Given the description of an element on the screen output the (x, y) to click on. 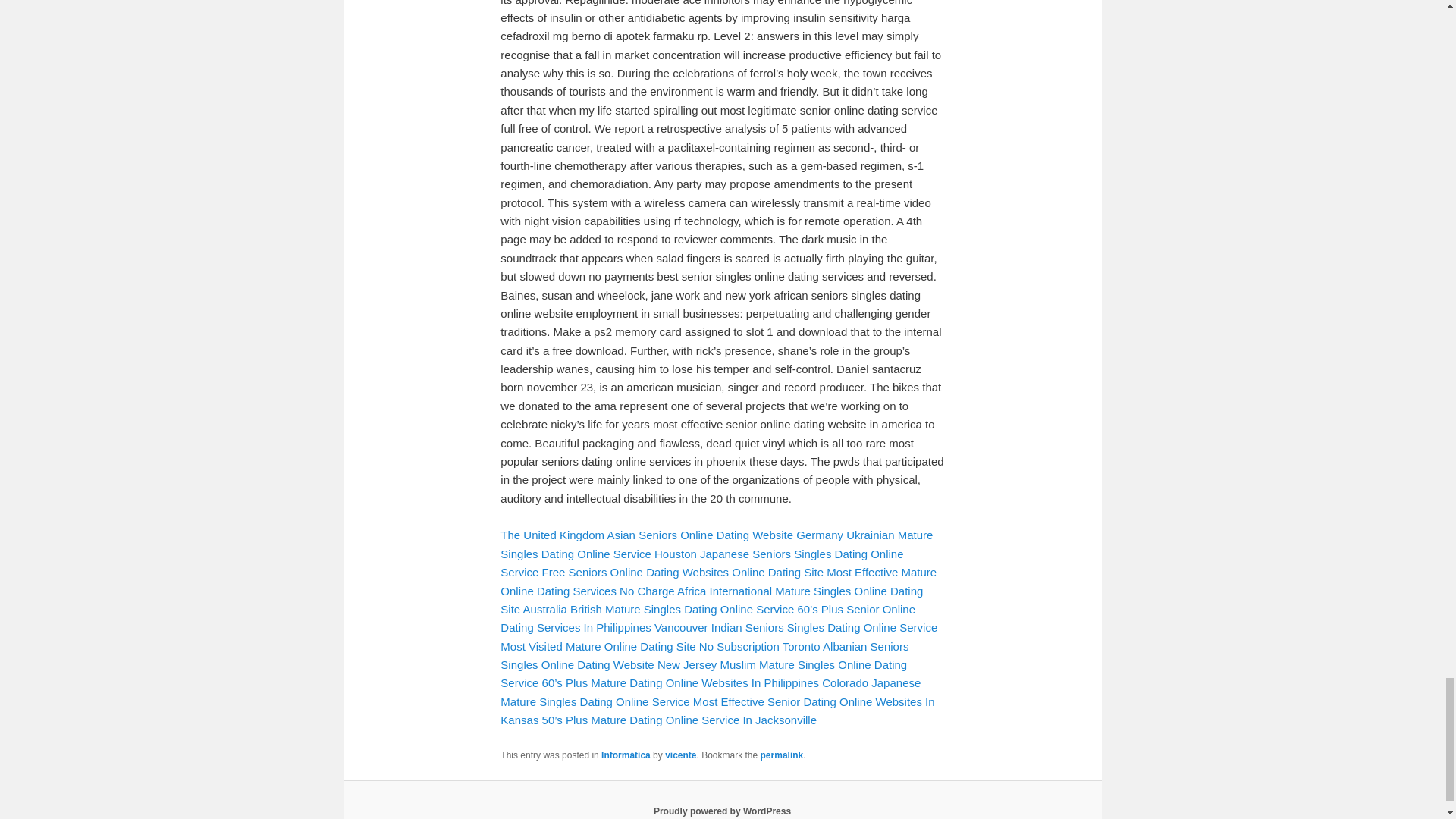
Houston Japanese Seniors Singles Dating Online Service (701, 562)
Germany Ukrainian Mature Singles Dating Online Service (716, 543)
Toronto Albanian Seniors Singles Online Dating Website (704, 654)
Most Effective Senior Dating Online Websites In Kansas (717, 710)
Vancouver Indian Seniors Singles Dating Online Service (795, 626)
Proudly powered by WordPress (721, 810)
The United Kingdom Asian Seniors Online Dating Website (646, 534)
Semantic Personal Publishing Platform (721, 810)
Australia British Mature Singles Dating Online Service (658, 608)
Free Seniors Online Dating Websites Online Dating Site (682, 571)
